Given the description of an element on the screen output the (x, y) to click on. 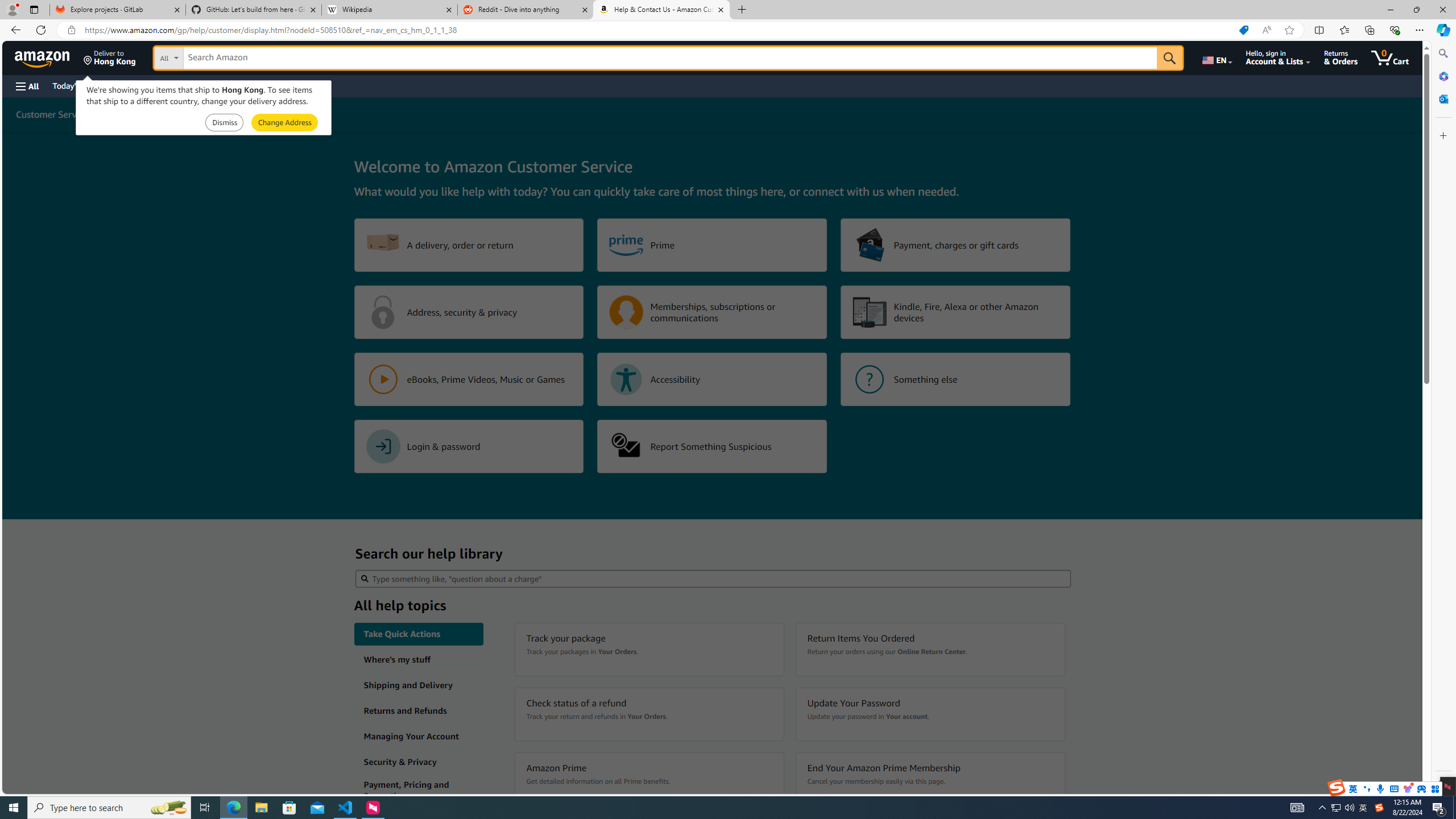
Go (1169, 57)
Search in (210, 56)
Wikipedia (390, 9)
Search Amazon (670, 57)
Sell (290, 85)
